Given the description of an element on the screen output the (x, y) to click on. 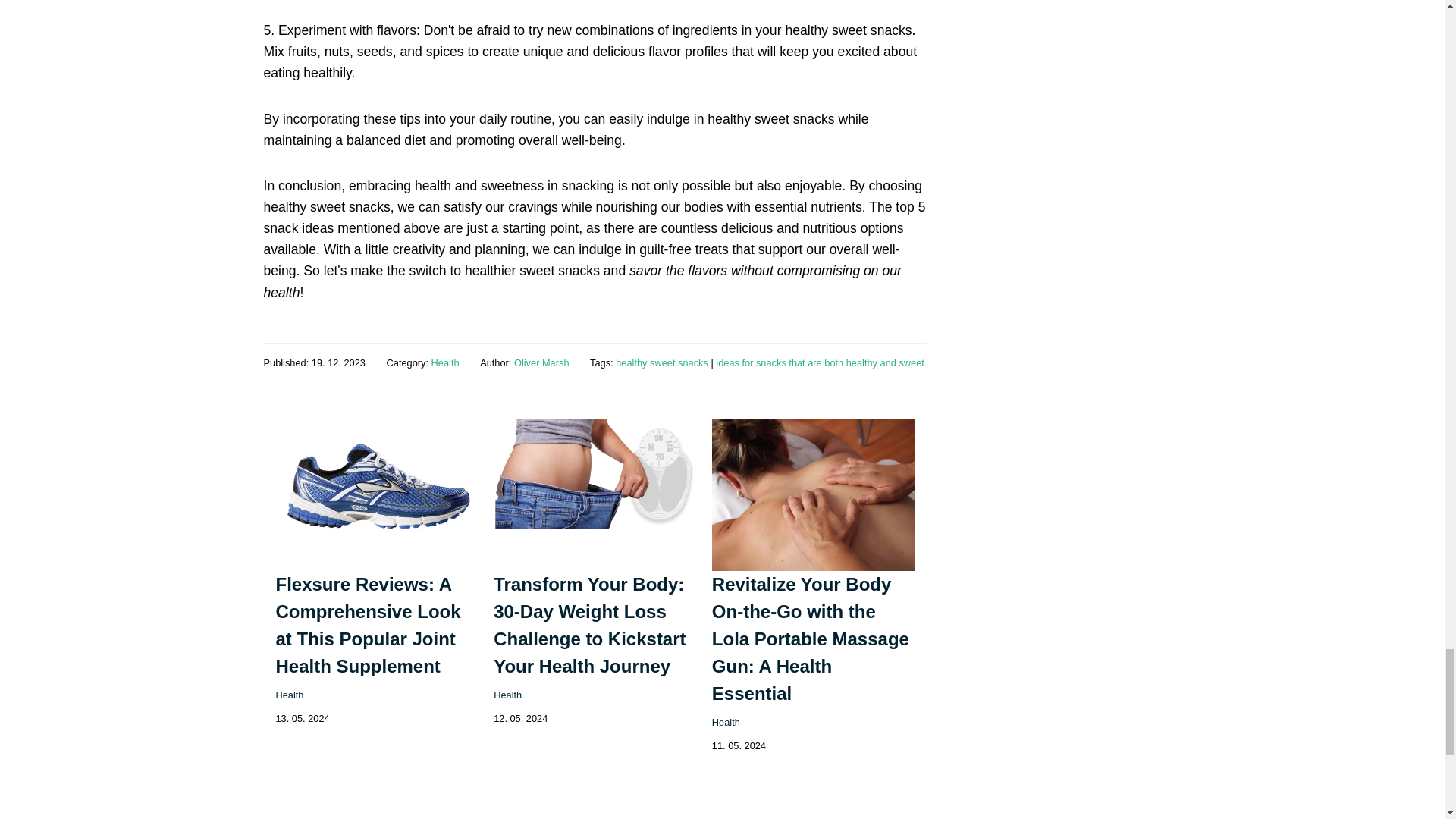
Health (725, 722)
Health (445, 362)
Oliver Marsh (541, 362)
Health (290, 695)
Health (507, 695)
ideas for snacks that are both healthy and sweet. (821, 362)
healthy sweet snacks (661, 362)
